Given the description of an element on the screen output the (x, y) to click on. 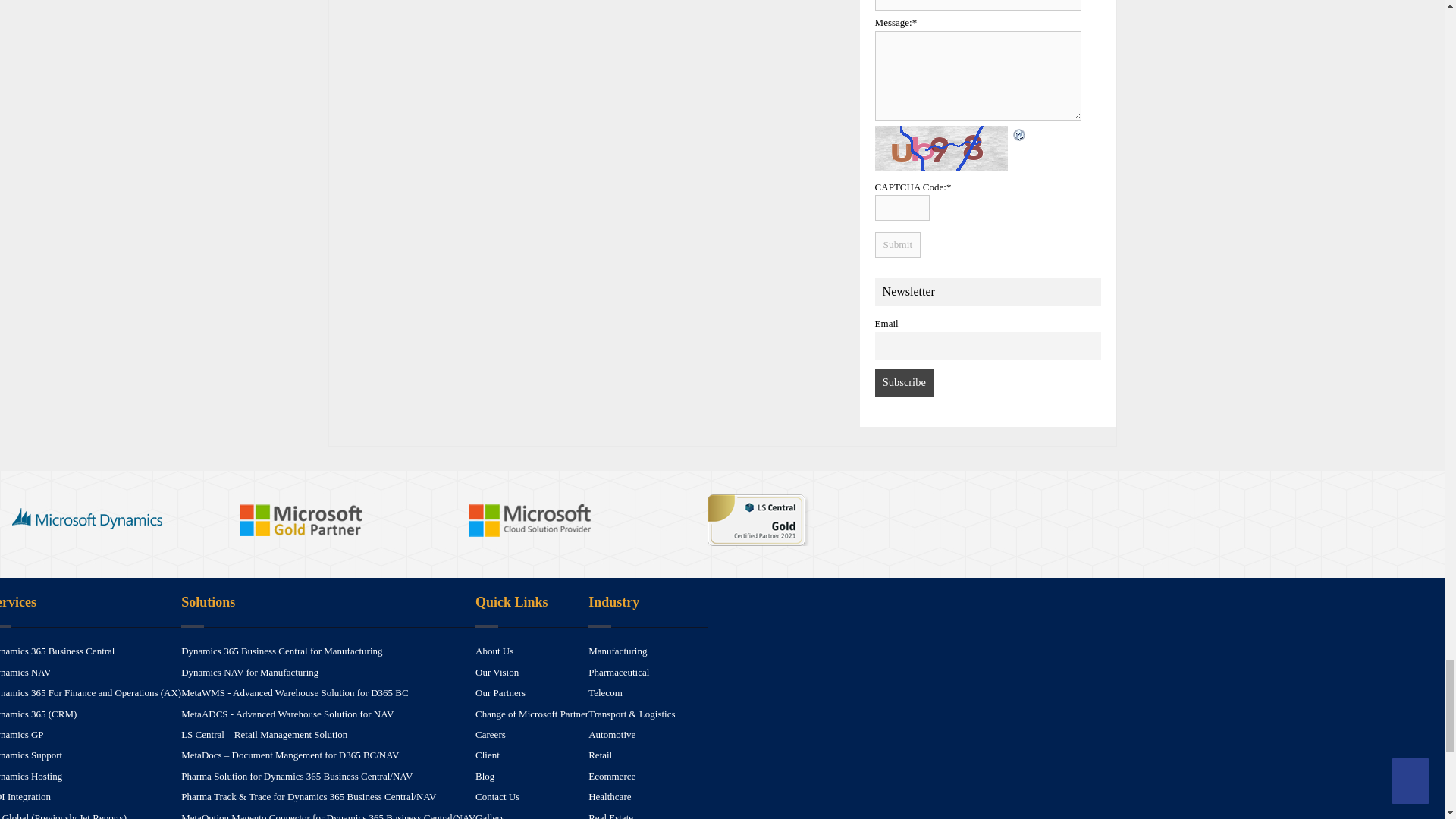
A new NAV for a new era (25, 672)
Subscribe (904, 382)
Submit (898, 244)
Dynamics GP (21, 734)
Dynamics Support (31, 754)
CAPTCHA Image (943, 148)
Refresh Image (1019, 133)
Dynamics 365 Business Central (57, 650)
